Given the description of an element on the screen output the (x, y) to click on. 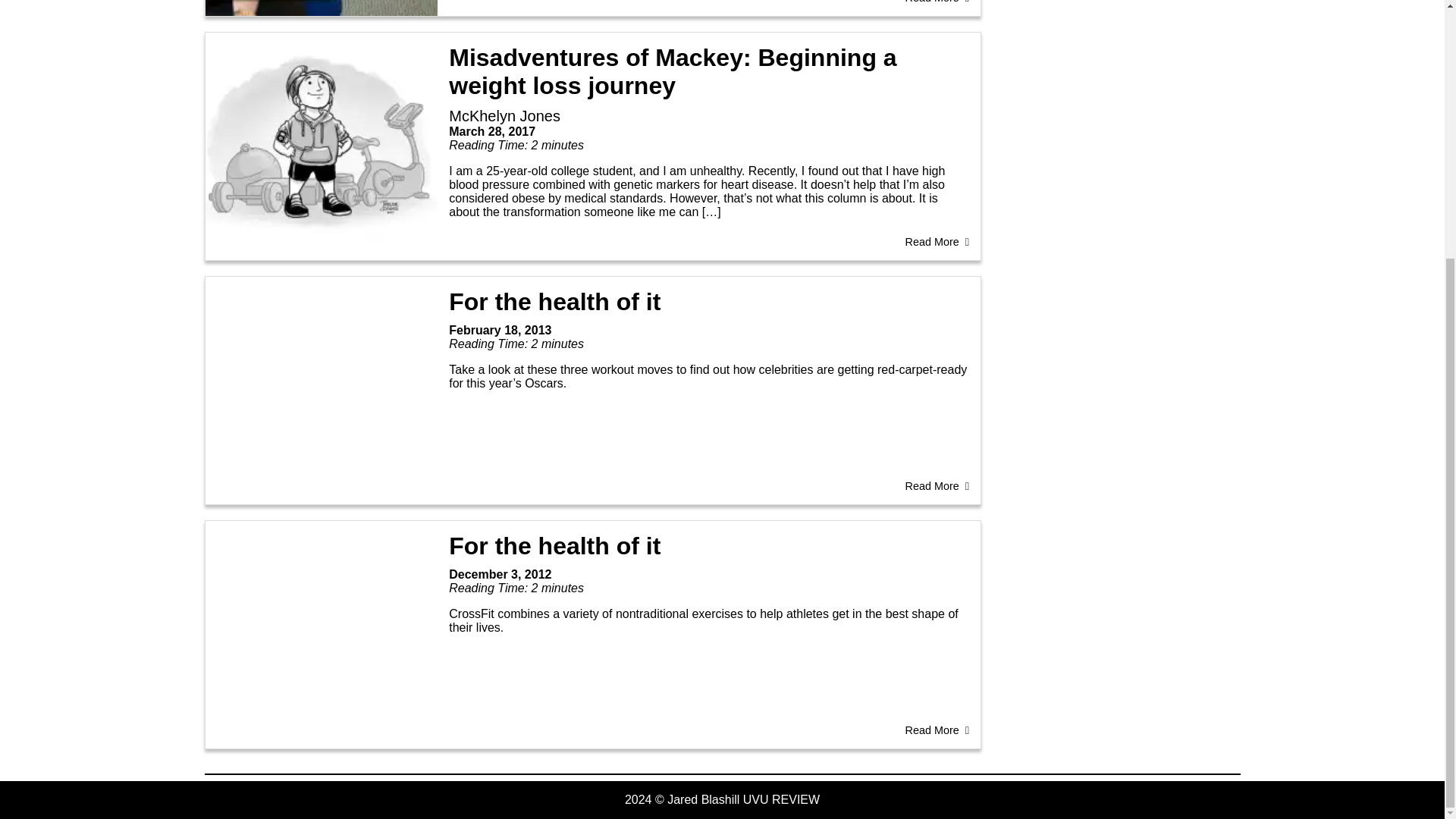
Read More (937, 729)
Posts by McKhelyn Jones (504, 115)
For the health of it (554, 301)
Read More (937, 2)
Read More (937, 485)
Read More (937, 241)
For the health of it (554, 545)
Misadventures of Mackey: Beginning a weight loss journey (672, 71)
McKhelyn Jones (504, 115)
